Given the description of an element on the screen output the (x, y) to click on. 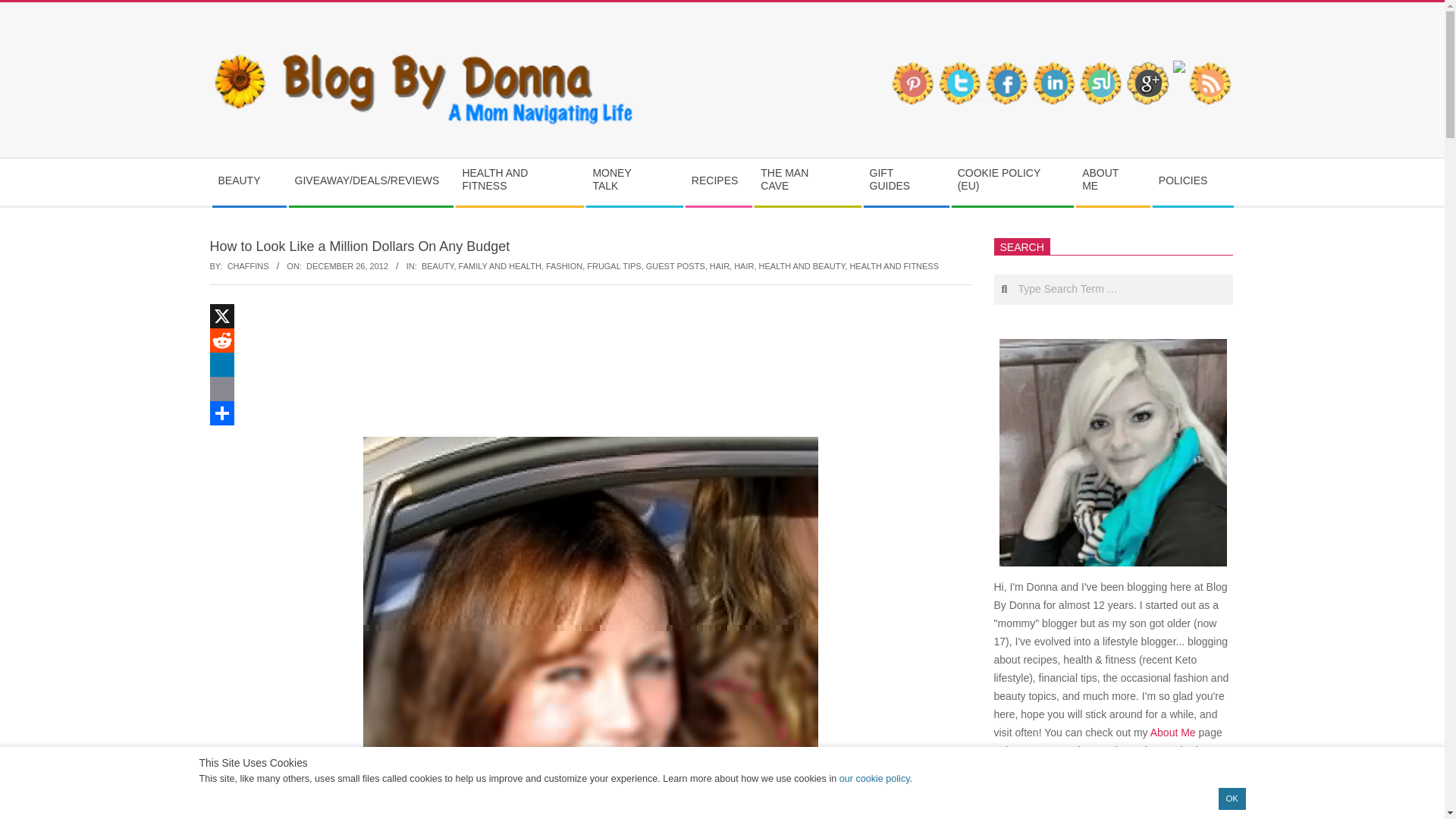
Reddit (590, 340)
BEAUTY (248, 180)
MONEY TALK (633, 181)
LinkedIn (590, 364)
HAIR (719, 266)
THE MAN CAVE (806, 181)
Wednesday, December 26, 2012, 7:00 am (346, 266)
RECIPES (718, 180)
FRUGAL TIPS (613, 266)
FAMILY AND HEALTH (499, 266)
X (590, 315)
GIFT GUIDES (905, 181)
POLICIES (1192, 180)
HEALTH AND FITNESS (519, 181)
